Given the description of an element on the screen output the (x, y) to click on. 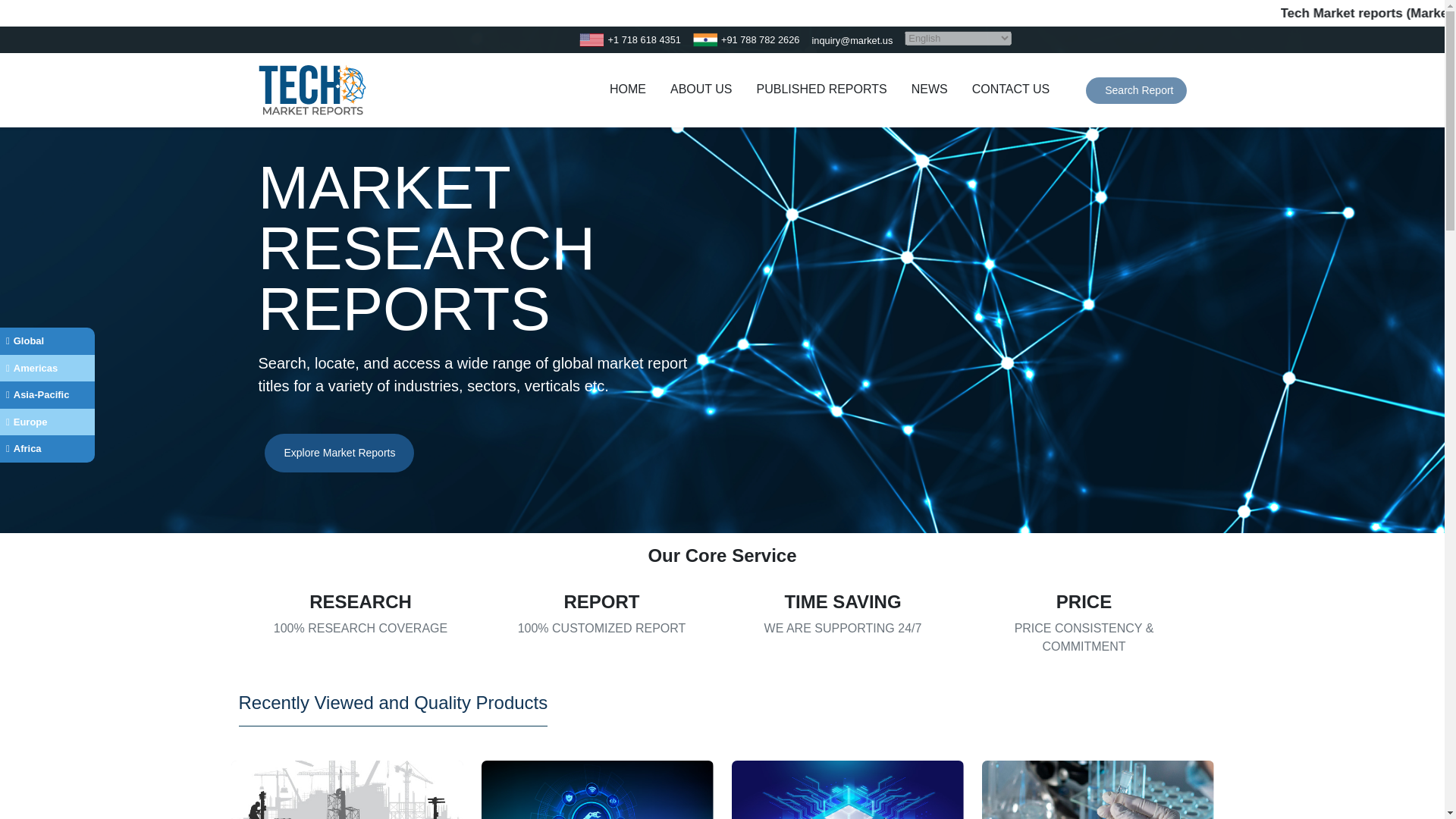
Global (47, 340)
CONTACT US (1011, 90)
PUBLISHED REPORTS (820, 90)
Americas (47, 368)
Africa (47, 448)
Search Report (1136, 90)
Europe (47, 420)
HOME (628, 90)
Explore Market Reports (338, 453)
NEWS (929, 90)
ABOUT US (700, 90)
Asia-Pacific (47, 394)
